Given the description of an element on the screen output the (x, y) to click on. 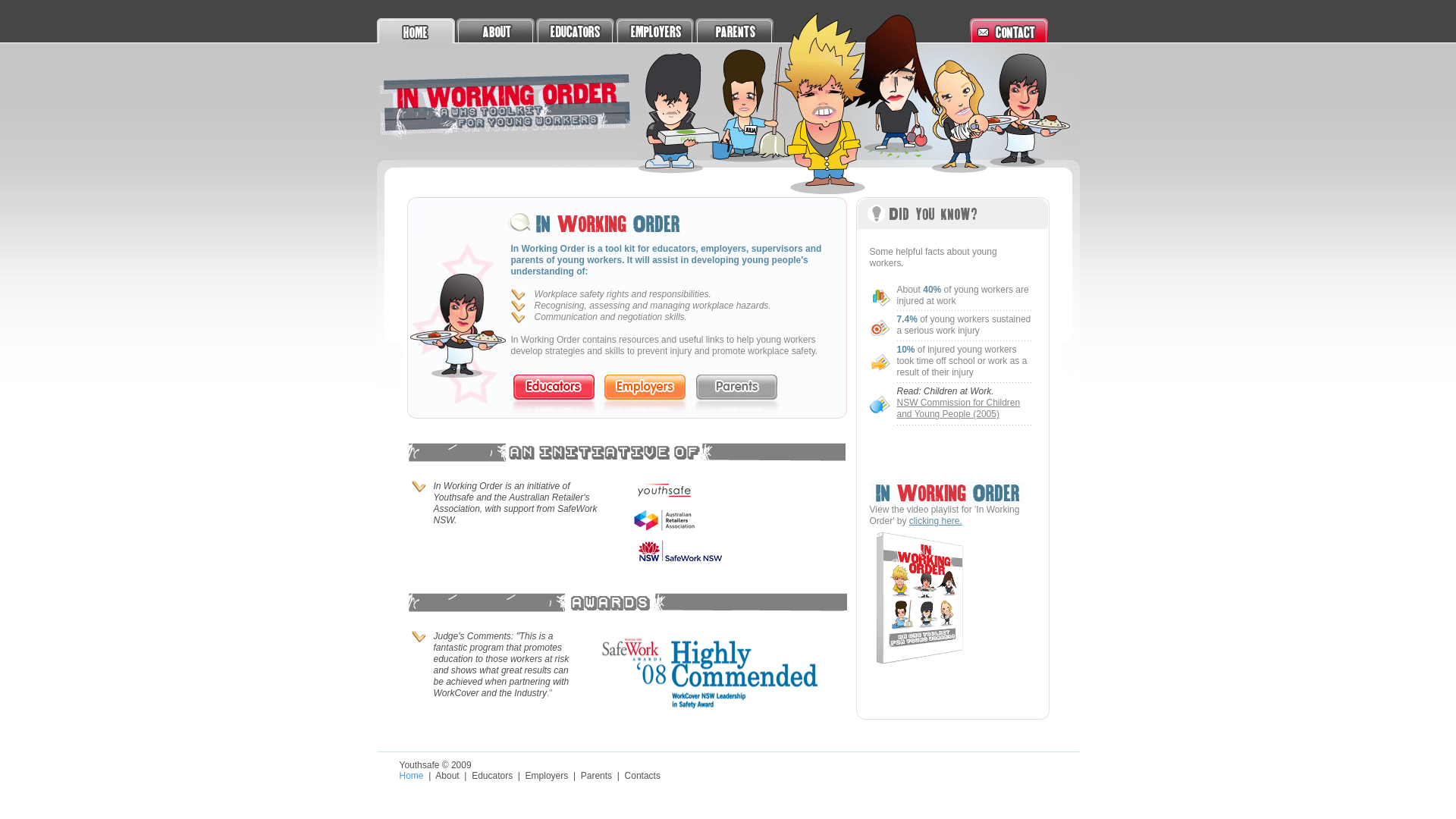
About Element type: text (446, 775)
Contacts Element type: text (642, 775)
clicking here. Element type: text (935, 520)
Educators Element type: text (491, 775)
NSW Commission for Children and Young People (2005) Element type: text (957, 413)
Employers Element type: text (546, 775)
Parents Element type: text (595, 775)
